Given the description of an element on the screen output the (x, y) to click on. 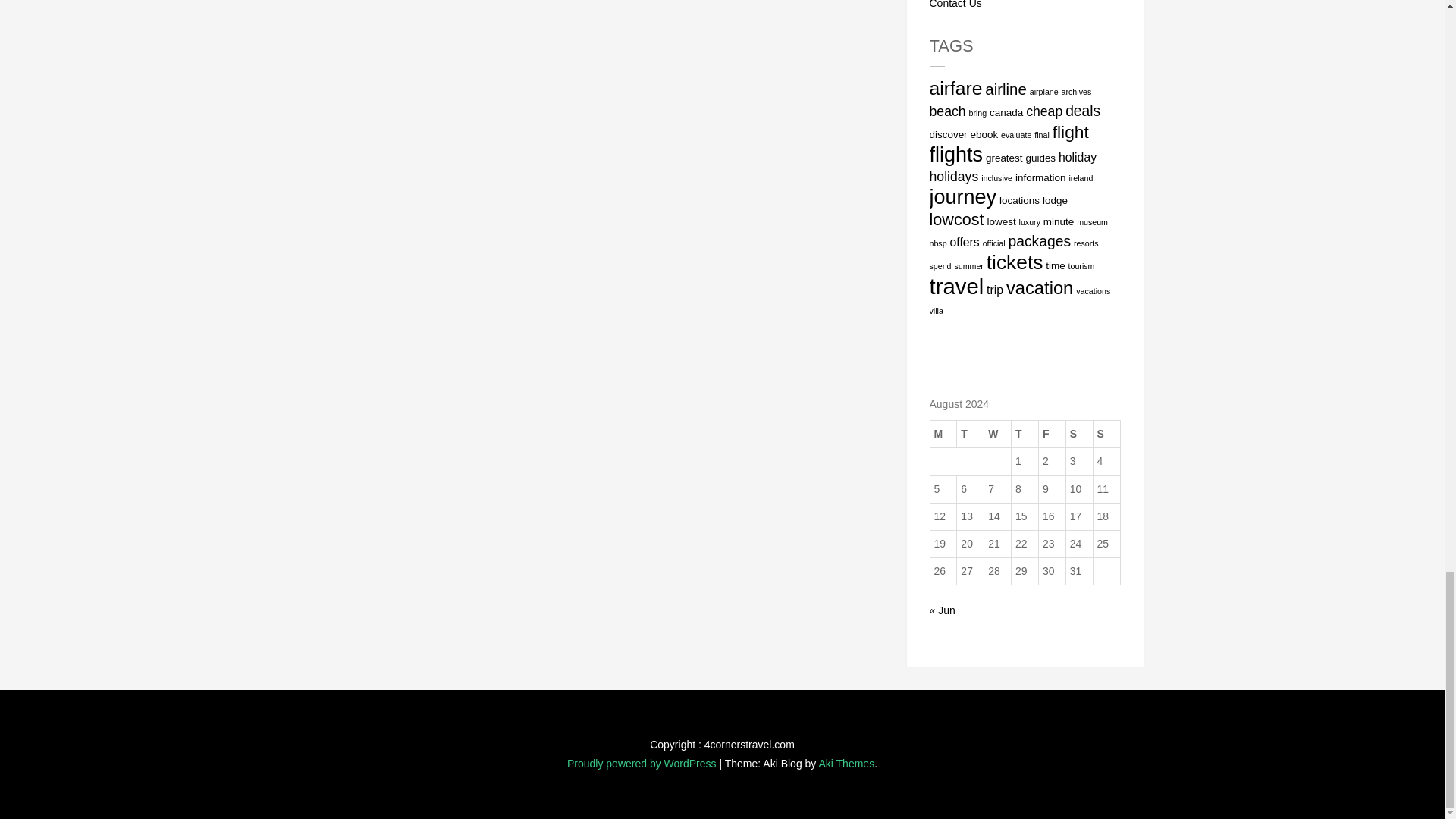
Saturday (1079, 433)
Monday (943, 433)
Thursday (1025, 433)
Wednesday (997, 433)
Sunday (1106, 433)
Tuesday (970, 433)
Friday (1051, 433)
